Given the description of an element on the screen output the (x, y) to click on. 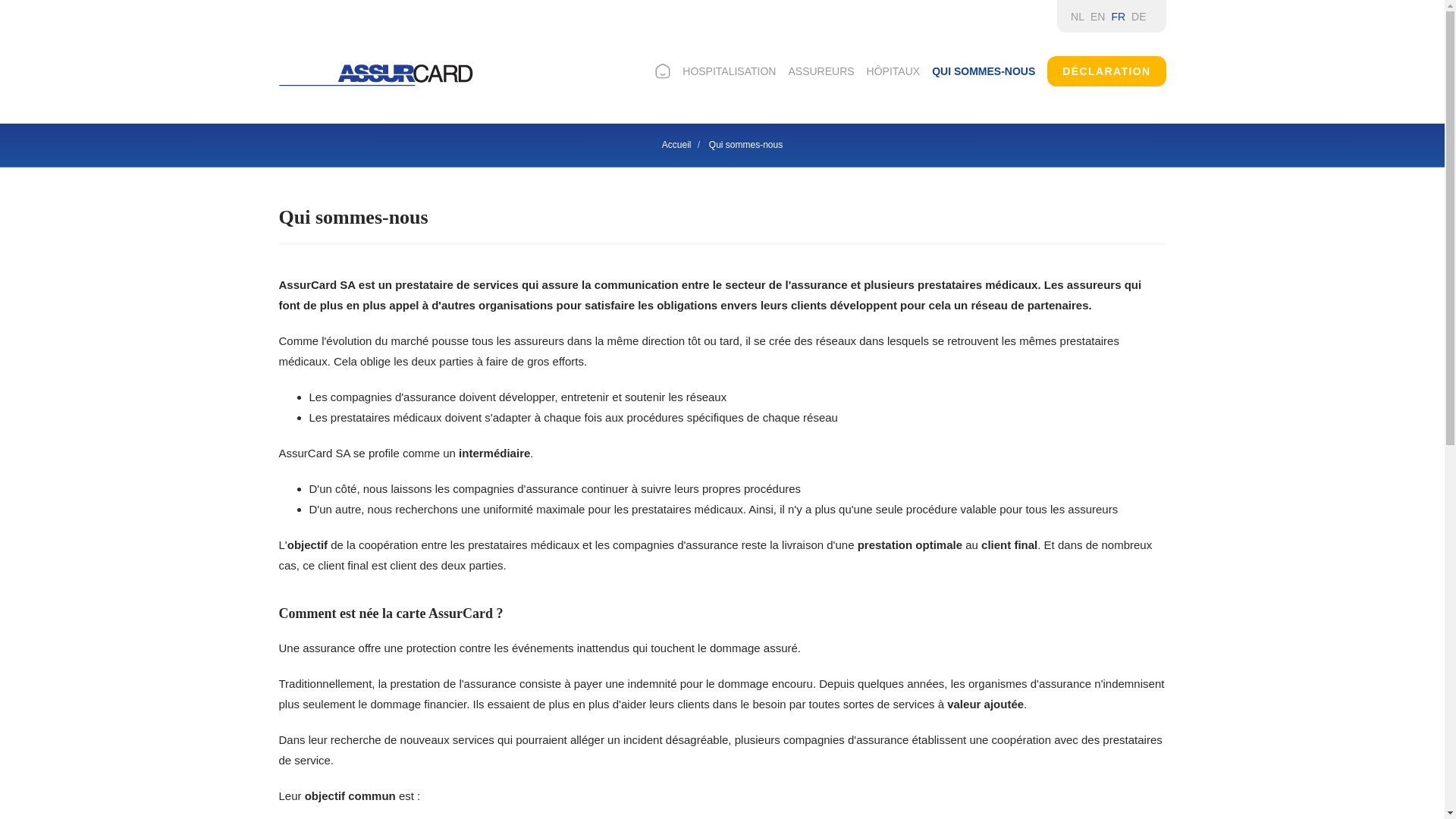
NL Element type: text (1077, 16)
QUI SOMMES-NOUS Element type: text (983, 70)
EN Element type: text (1097, 16)
FR Element type: text (1117, 16)
Accueil Element type: hover (376, 74)
Accueil Element type: text (676, 144)
HOME Element type: text (662, 70)
ASSUREURS Element type: text (820, 70)
HOSPITALISATION Element type: text (728, 70)
DE Element type: text (1138, 16)
Aller au contenu principal Element type: text (0, 0)
